Given the description of an element on the screen output the (x, y) to click on. 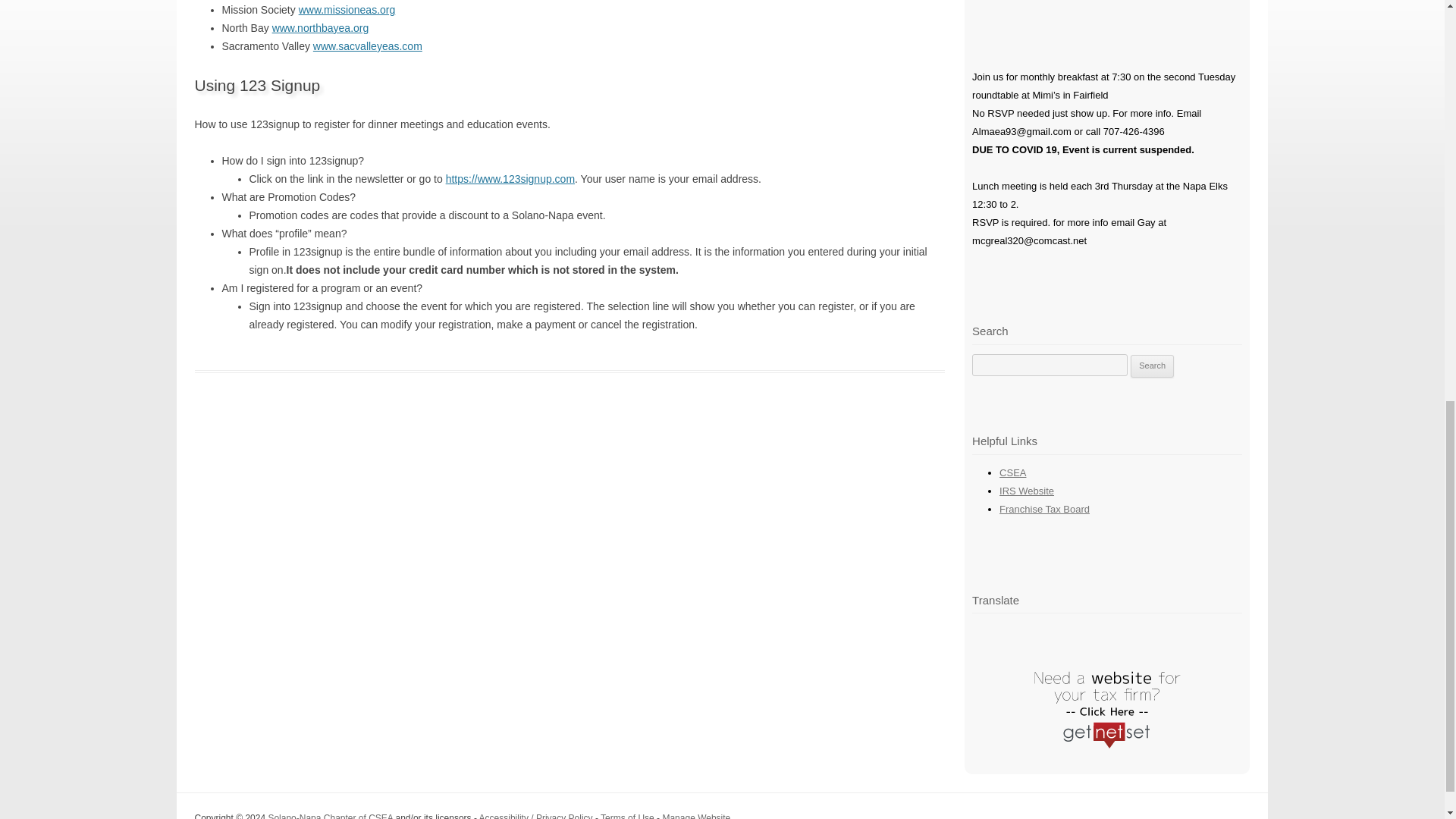
Search (1152, 365)
